Given the description of an element on the screen output the (x, y) to click on. 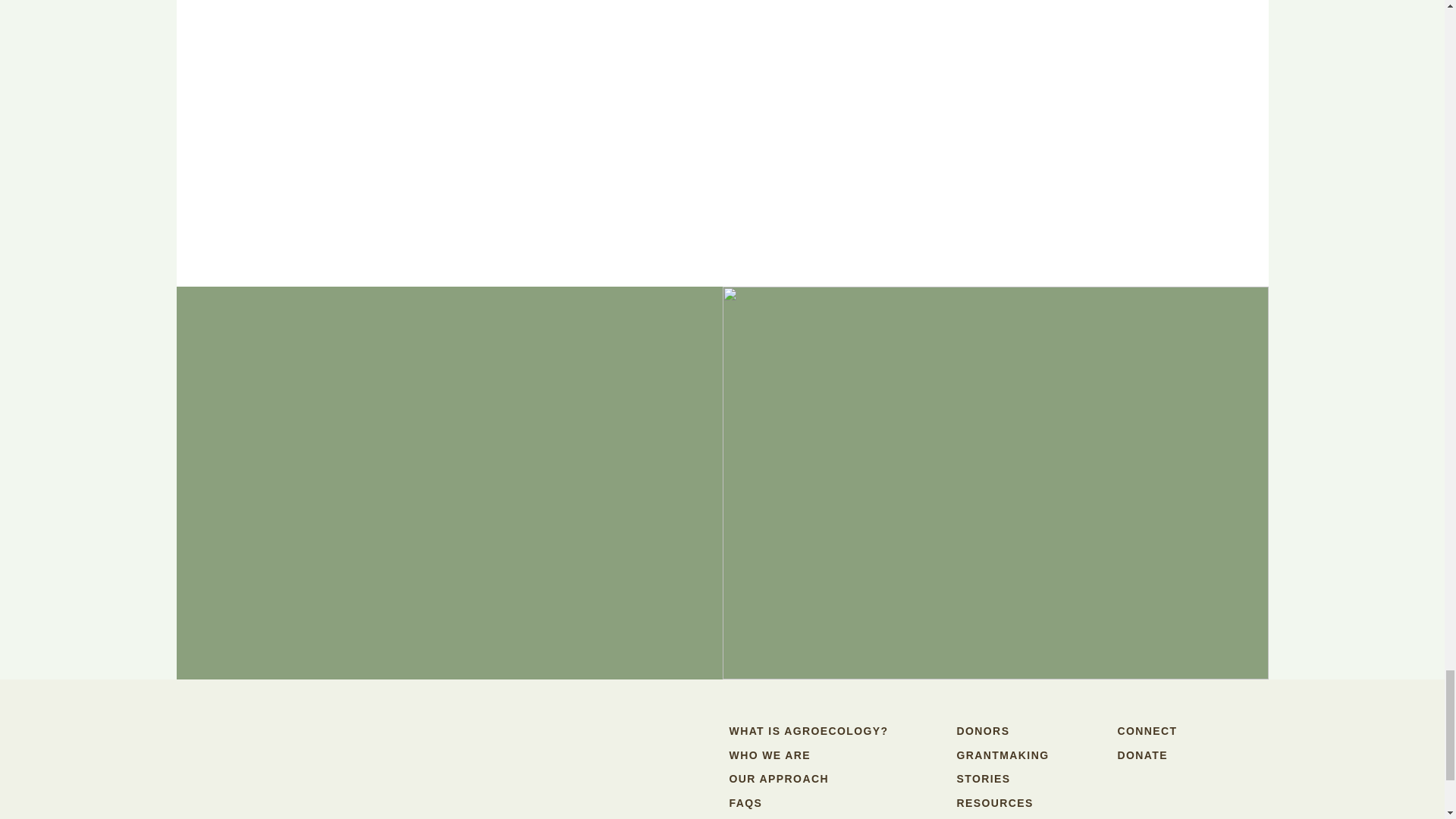
DONATE (1141, 755)
Agroecology Fund (474, 757)
FAQS (745, 802)
OUR APPROACH (778, 778)
GRANTMAKING (1002, 755)
CONNECT (1146, 730)
WHAT IS AGROECOLOGY? (808, 730)
DONORS (983, 730)
WHO WE ARE (769, 755)
STORIES (983, 778)
